Given the description of an element on the screen output the (x, y) to click on. 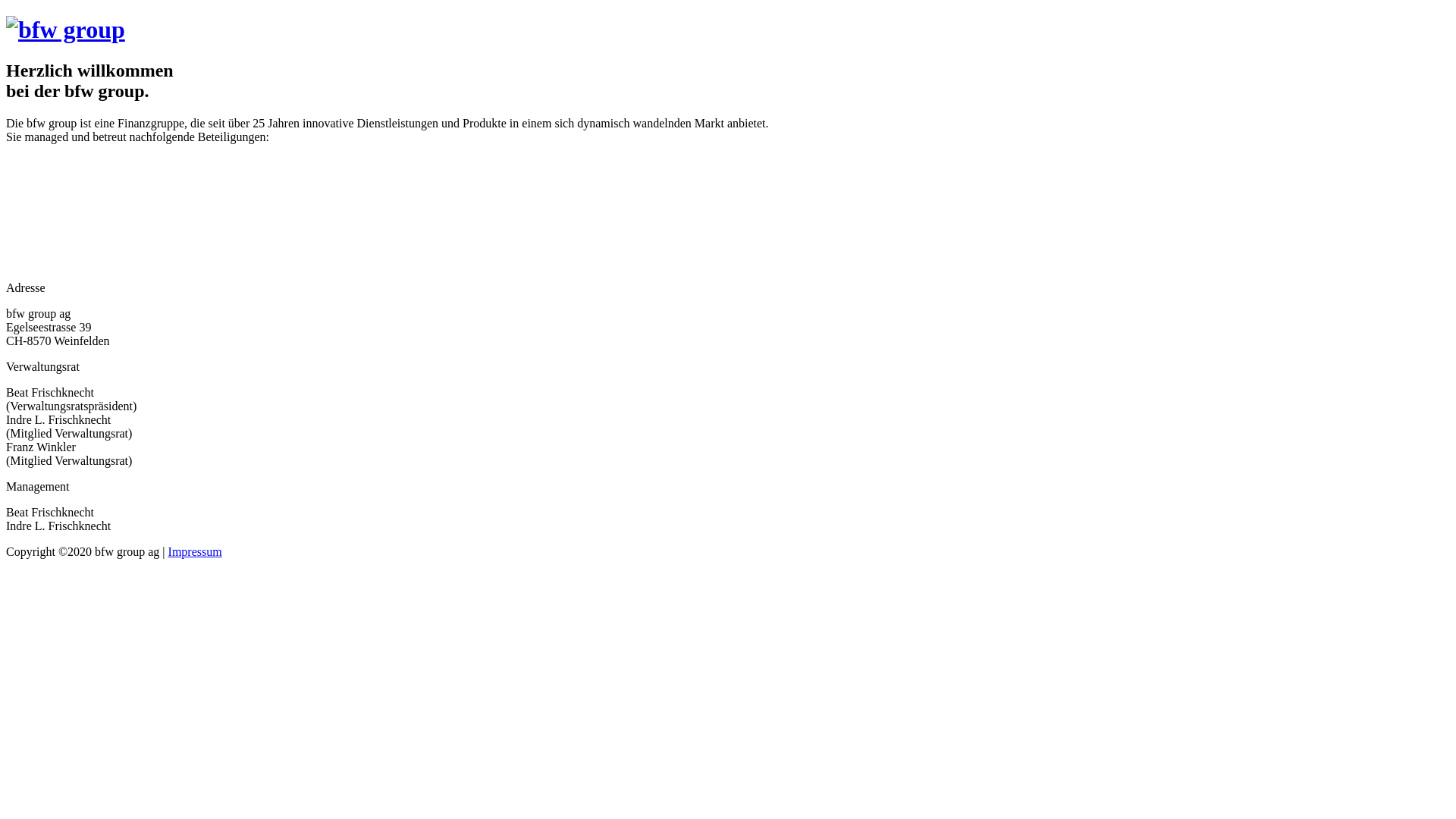
bfw group Element type: hover (65, 29)
bfw group Element type: hover (65, 29)
Impressum Element type: text (195, 551)
